Given the description of an element on the screen output the (x, y) to click on. 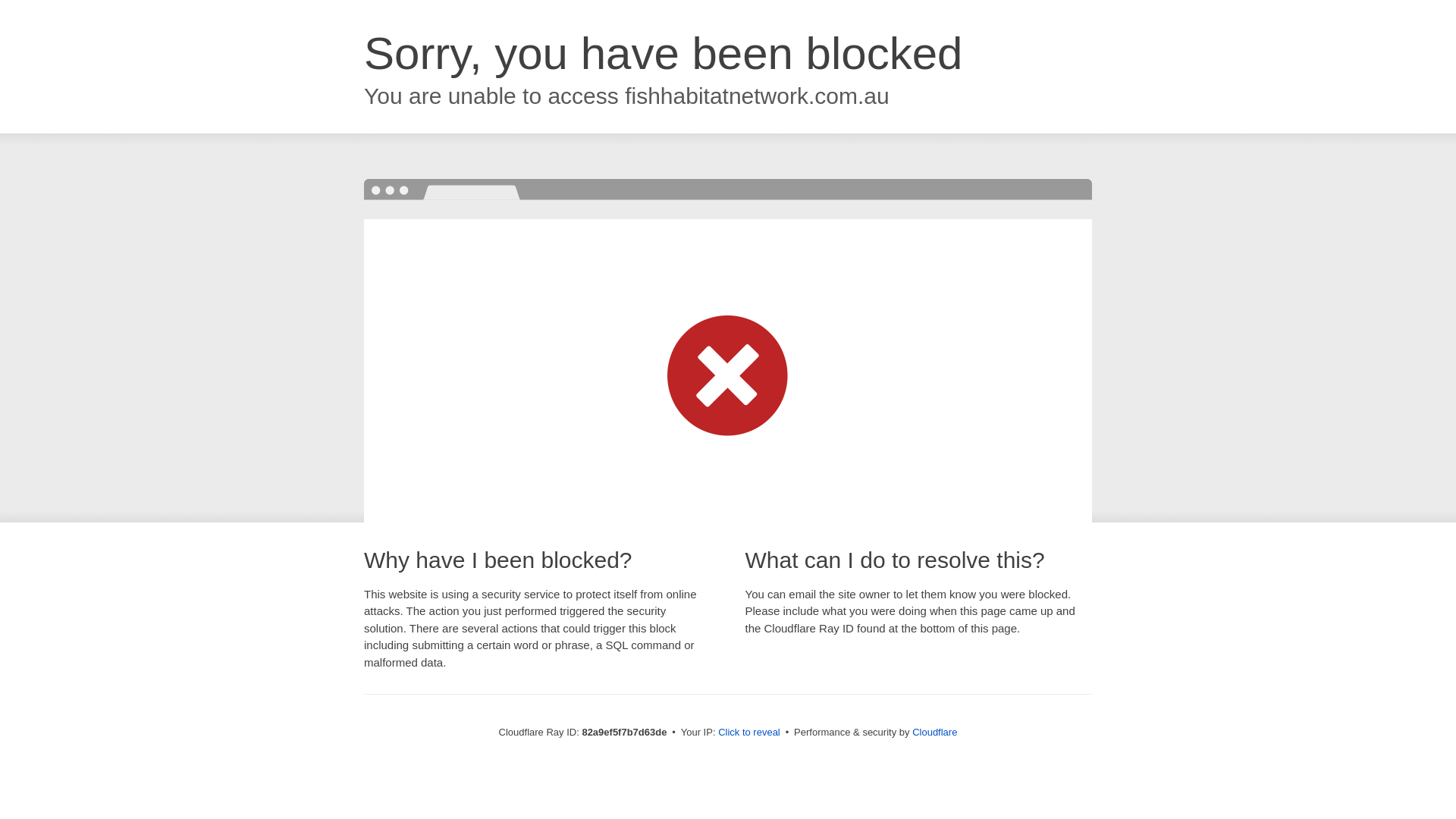
Click to reveal Element type: text (749, 732)
Cloudflare Element type: text (934, 731)
